Given the description of an element on the screen output the (x, y) to click on. 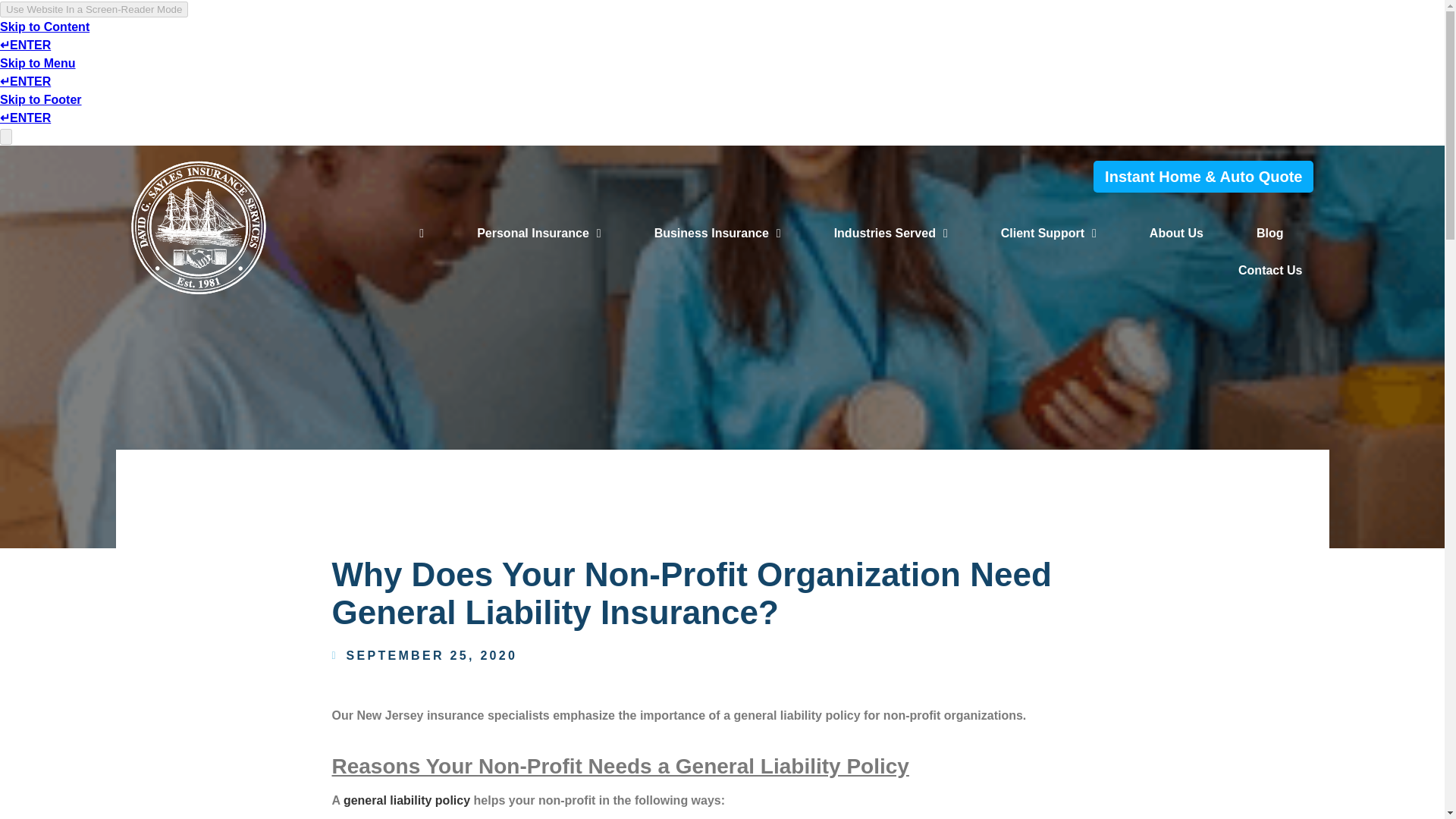
Contact Us (1270, 270)
Blog (1269, 233)
Client Support (1049, 233)
About Us (1176, 233)
Business Insurance (717, 233)
Industries Served (890, 233)
Personal Insurance (538, 233)
